Given the description of an element on the screen output the (x, y) to click on. 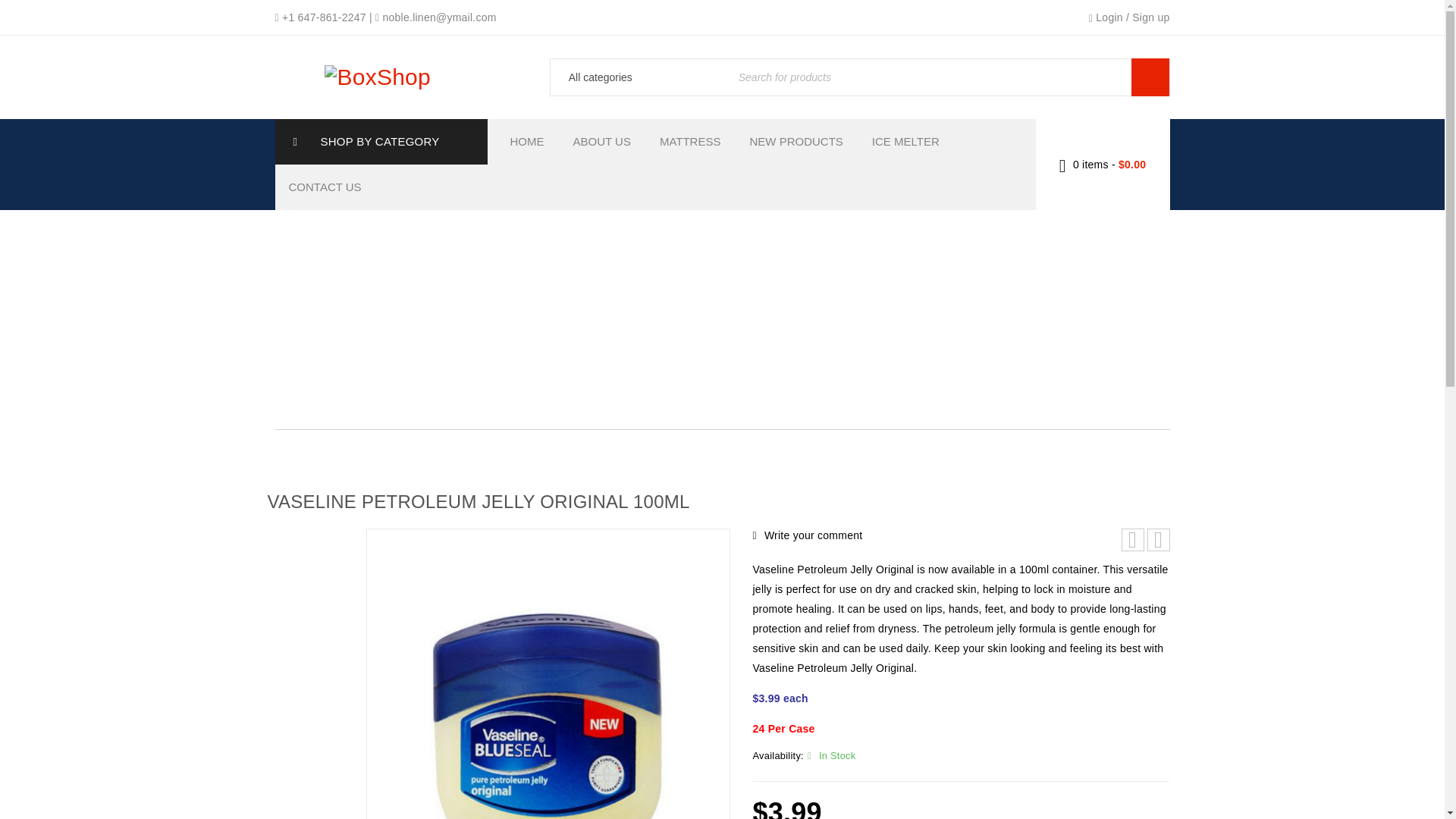
ABOUT US (609, 141)
MATTRESS (697, 141)
View your shopping bag (1103, 164)
Create New Account (1150, 17)
BoxShop (377, 77)
Search (1150, 77)
Search (1150, 77)
Login (1109, 17)
v17 (547, 673)
HOME (534, 141)
